Given the description of an element on the screen output the (x, y) to click on. 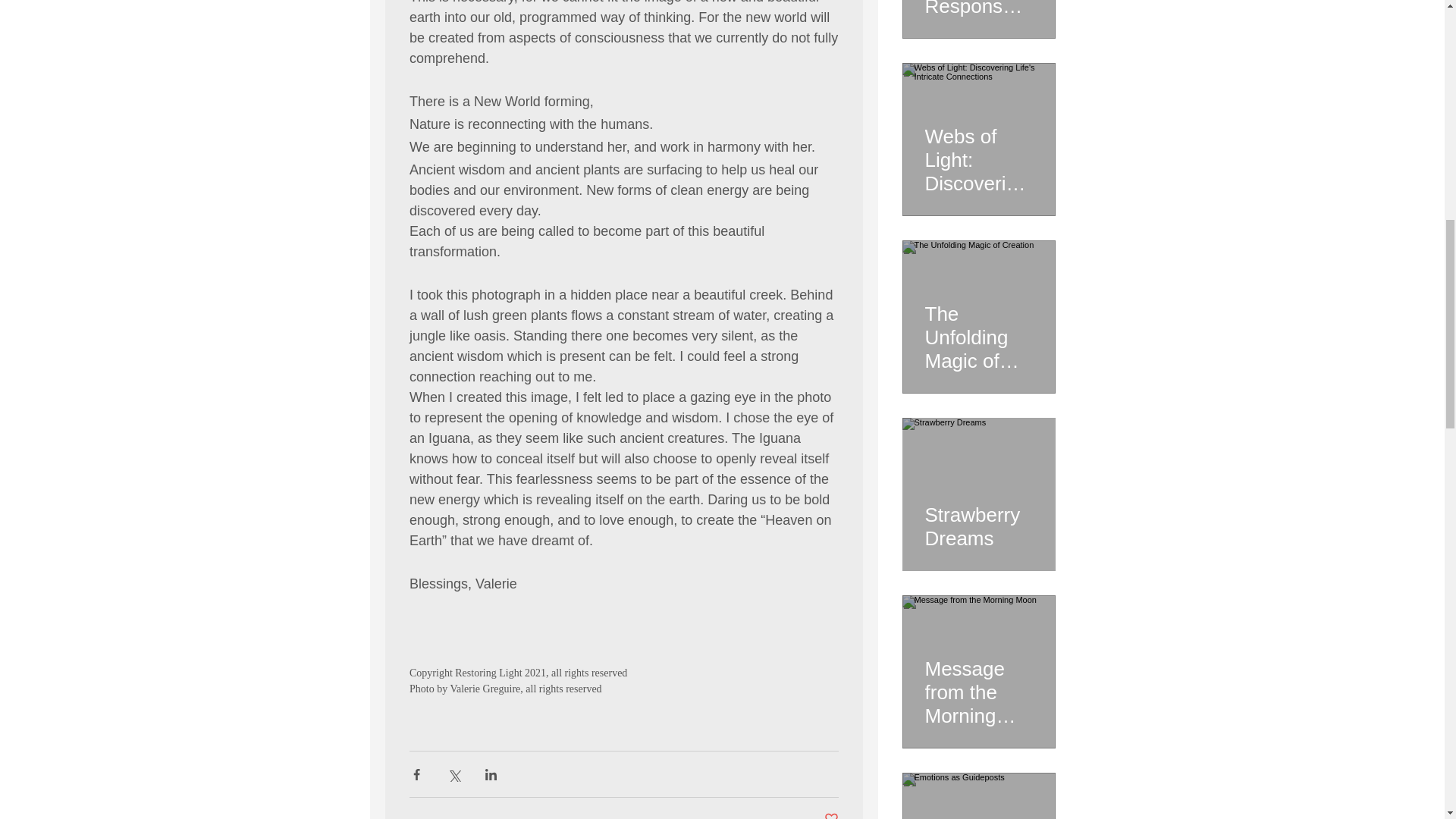
The Unfolding Magic of Creation (978, 331)
Webs of Light: Discovering Life's Intricate Connections (978, 153)
Strawberry Dreams (978, 519)
Post not marked as liked (831, 815)
Calming the Stress Response in the Body (978, 9)
Message from the Morning Moon (978, 685)
